Given the description of an element on the screen output the (x, y) to click on. 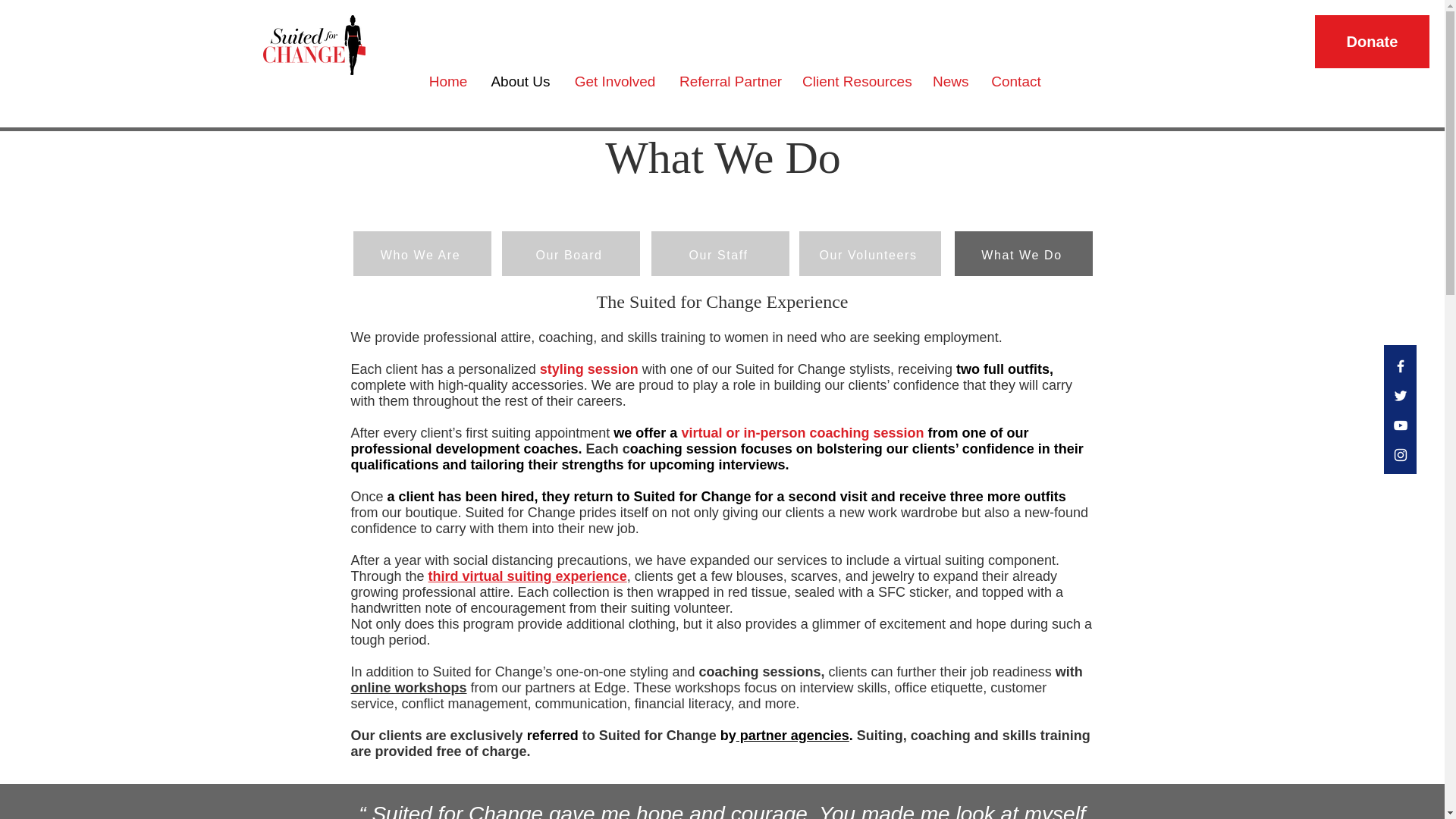
About Us (520, 81)
Donate (1371, 41)
third virtual suiting experience (527, 575)
Our Volunteers (869, 255)
News (950, 81)
Who We Are (422, 255)
partner agencies (792, 735)
Our Staff (719, 255)
Client Resources (855, 81)
Our Board (571, 255)
online workshops (407, 687)
Contact (1015, 81)
What We Do (1022, 255)
Home (447, 81)
Get Involved (615, 81)
